Given the description of an element on the screen output the (x, y) to click on. 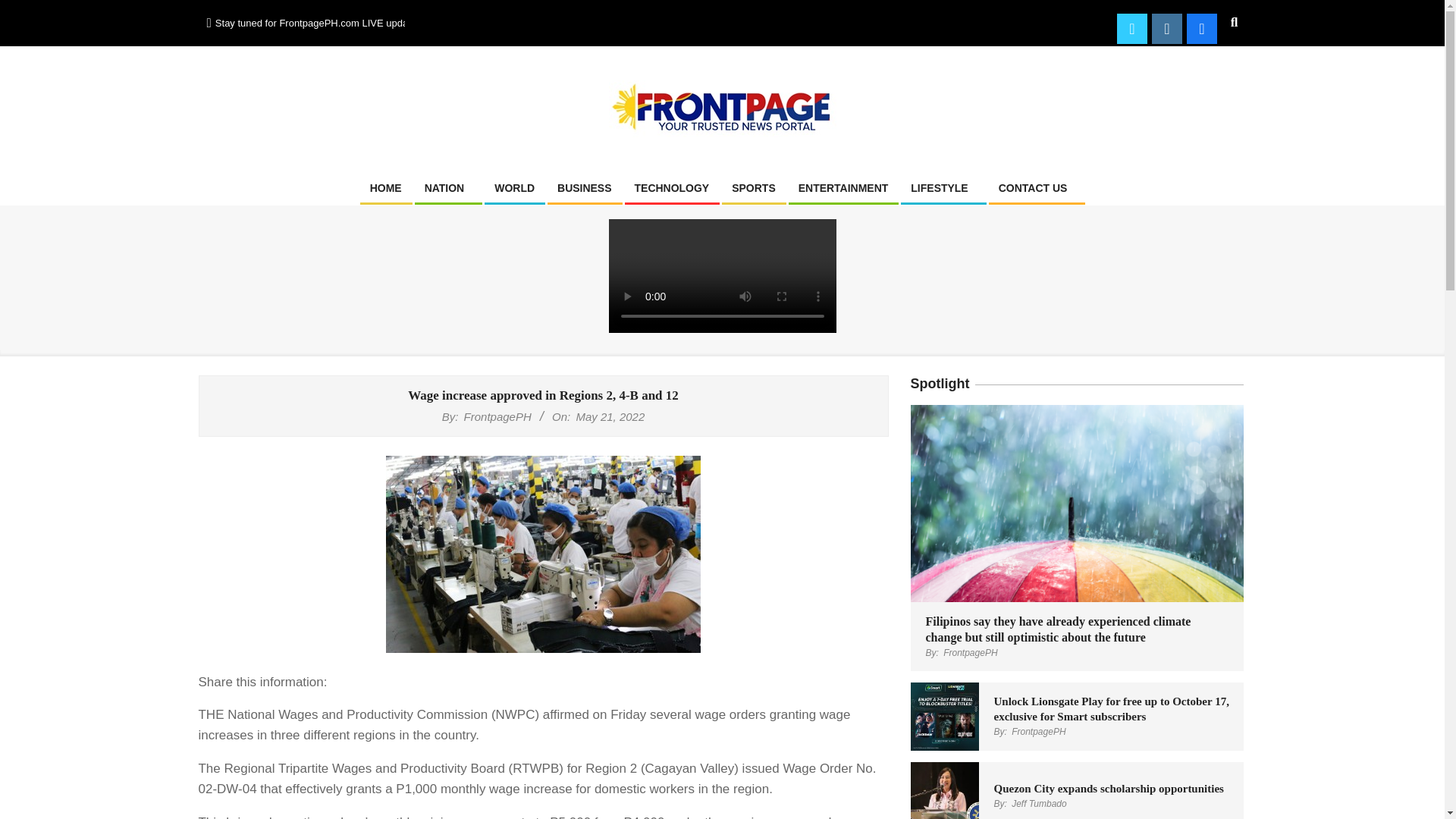
LIFESTYLE (943, 187)
CONTACT US (1036, 187)
BUSINESS (584, 187)
TECHNOLOGY (671, 187)
HOME (385, 187)
SPORTS (753, 187)
Posts by FrontpagePH (497, 416)
Posts by Jeff Tumbado (1038, 803)
Posts by FrontpagePH (970, 652)
Search (22, 8)
